Given the description of an element on the screen output the (x, y) to click on. 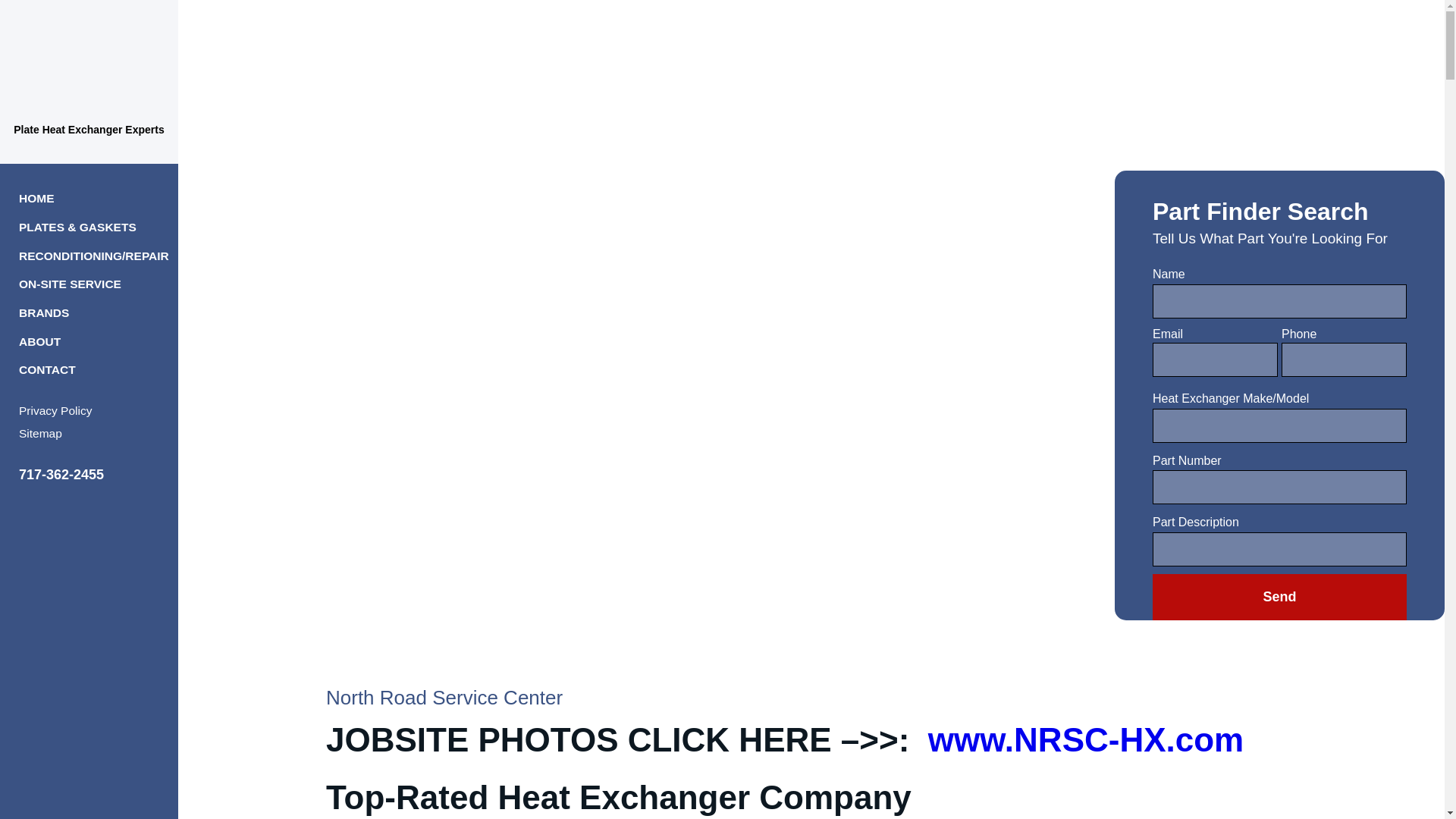
717-362-2455 (88, 475)
HOME (36, 198)
BRANDS (43, 312)
Sitemap (40, 432)
Privacy Policy (54, 410)
CONTACT (46, 369)
www.NRSC-HX.com (1085, 739)
ABOUT (39, 341)
Send (1279, 596)
Send (1279, 596)
